Given the description of an element on the screen output the (x, y) to click on. 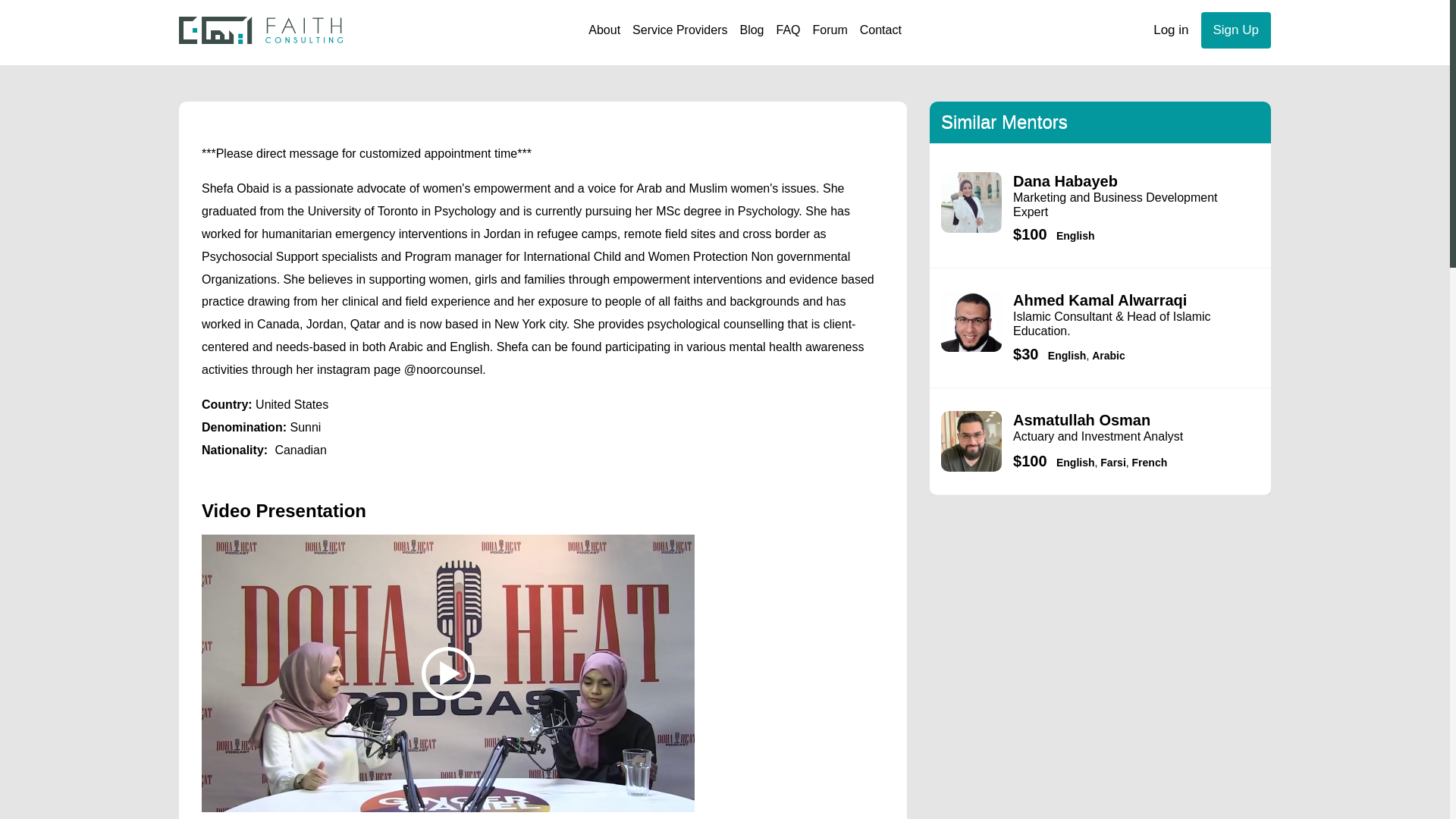
Service Providers (679, 30)
Skip to main content (724, 1)
Sign Up (1236, 30)
FAQ (788, 30)
Log in (1170, 30)
Blog (751, 30)
Home (261, 30)
Forum (829, 30)
About (604, 30)
Contact (880, 30)
